Given the description of an element on the screen output the (x, y) to click on. 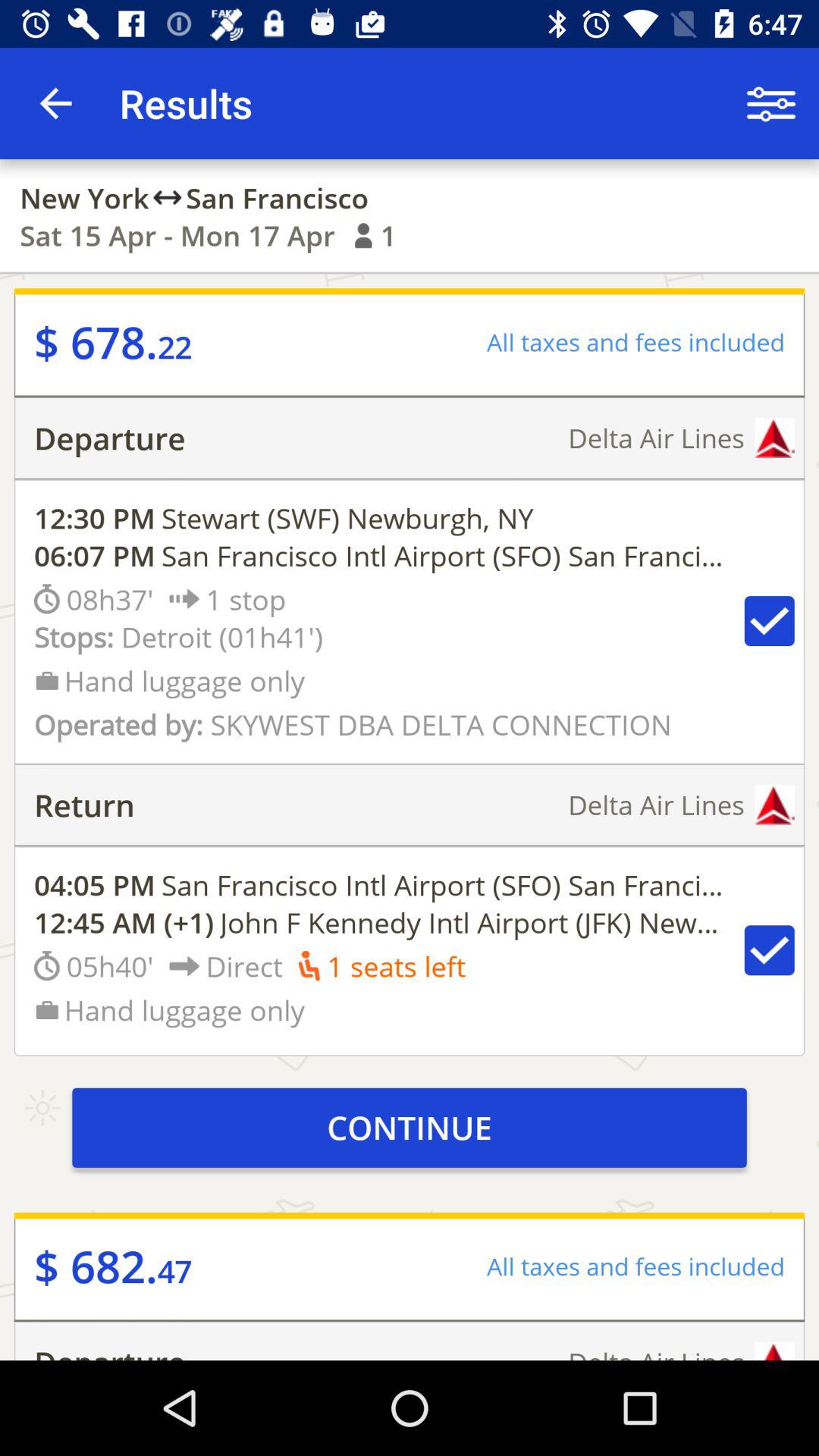
turn off continue (409, 1127)
